Given the description of an element on the screen output the (x, y) to click on. 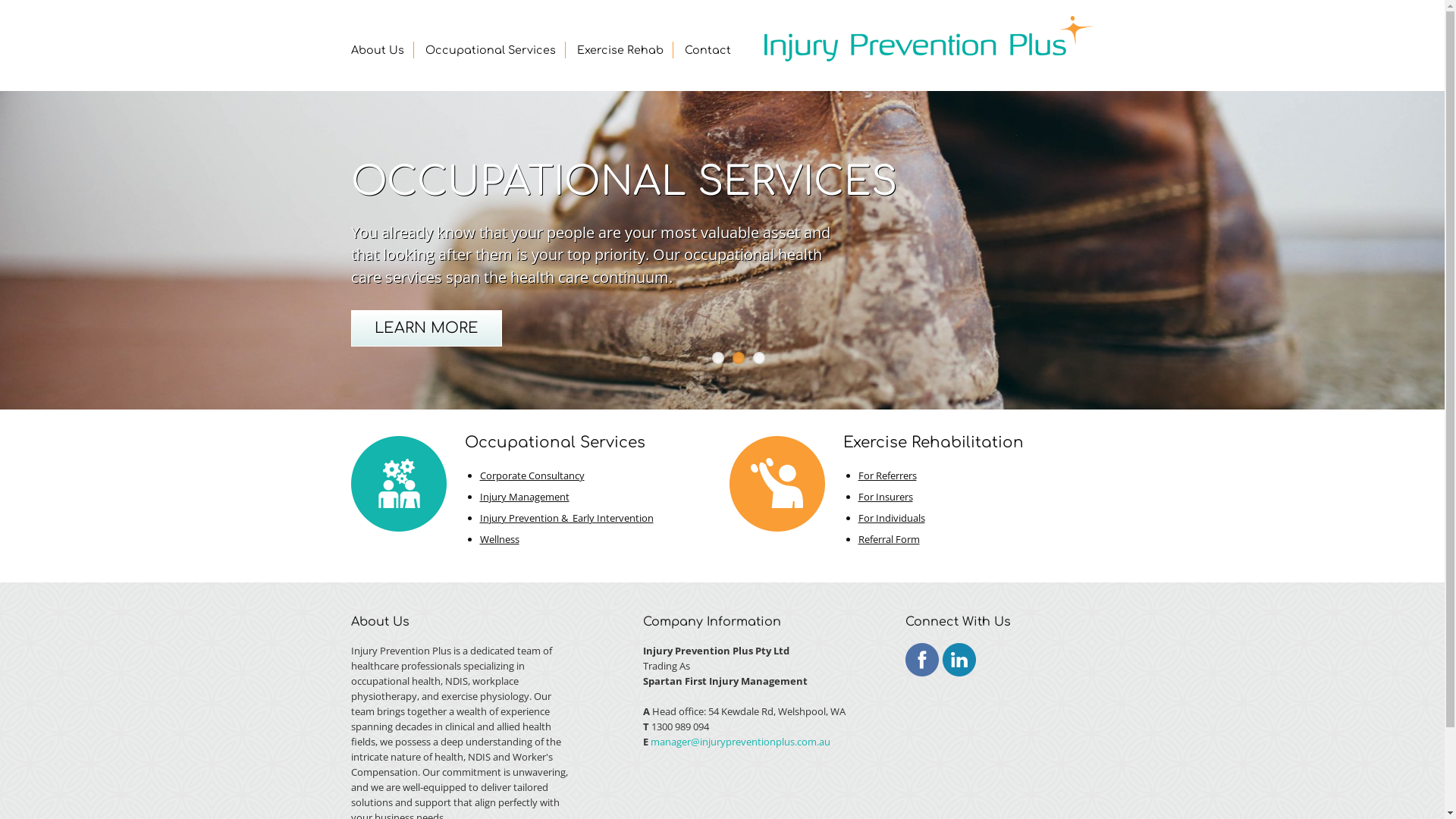
Injury Management Element type: text (523, 496)
For Insurers Element type: text (885, 496)
Exercise Rehabilitation Element type: text (933, 442)
Referral Form Element type: text (888, 539)
Home Element type: hover (927, 38)
manager@injurypreventionplus.com.au Element type: text (740, 741)
Occupational Services Element type: text (554, 442)
Contact Element type: text (707, 49)
Injury Prevention &  Early Intervention Element type: text (565, 517)
For Individuals Element type: text (891, 517)
Corporate Consultancy Element type: text (531, 475)
Occupational Services Element type: text (489, 49)
1 Element type: text (718, 357)
Exercise Rehab Element type: text (619, 49)
2 Element type: text (738, 357)
About Us Element type: text (376, 49)
Wellness Element type: text (498, 539)
3 Element type: text (759, 357)
For Referrers Element type: text (887, 475)
LEARN MORE Element type: text (425, 328)
Jump to navigation Element type: text (722, 2)
